Given the description of an element on the screen output the (x, y) to click on. 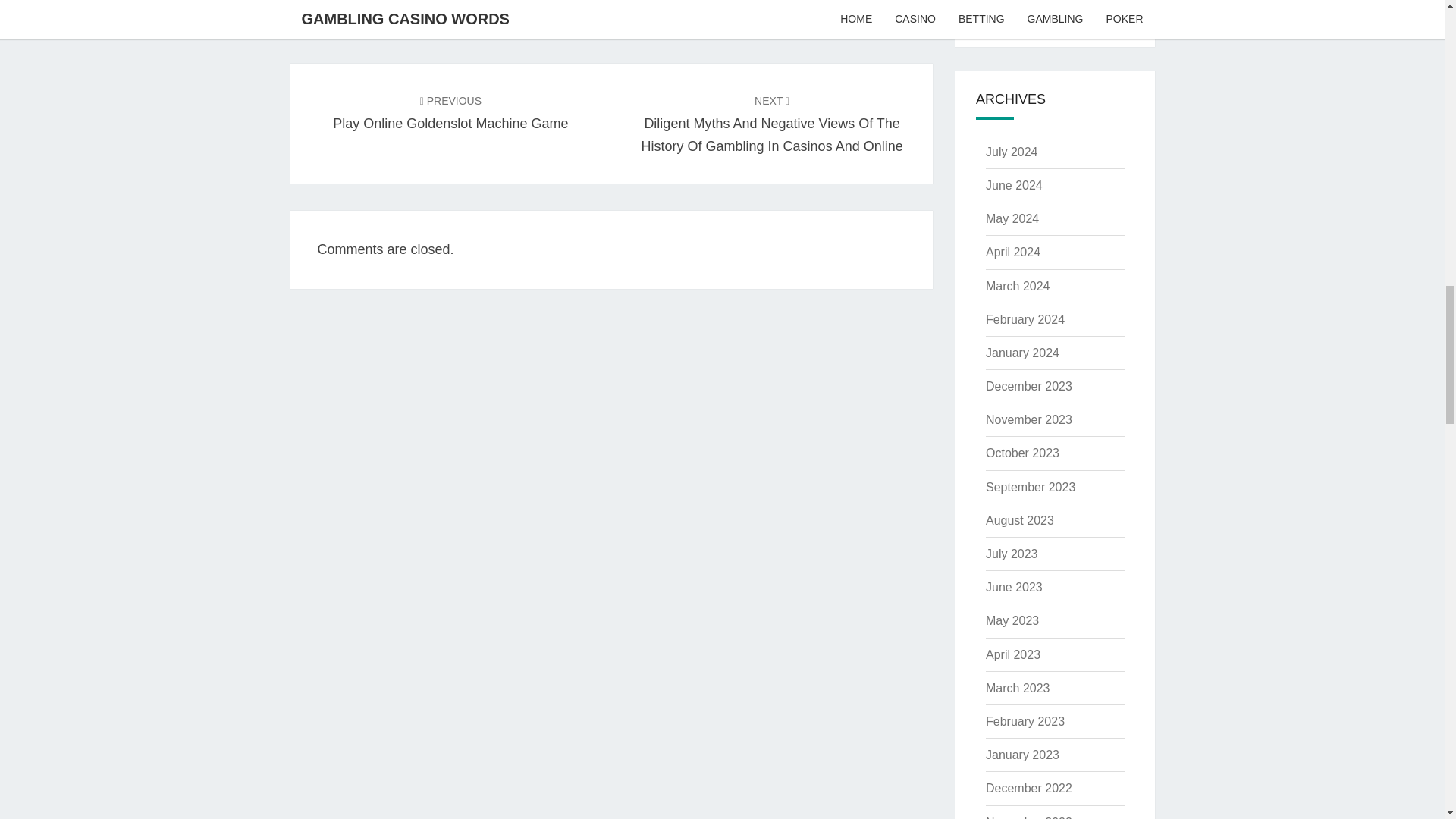
June 2024 (1013, 185)
February 2023 (1024, 721)
November 2023 (1028, 419)
April 2024 (1013, 251)
June 2023 (1013, 586)
March 2024 (1017, 286)
January 2023 (1022, 754)
May 2024 (450, 111)
October 2023 (1012, 218)
May 2023 (1022, 452)
January 2024 (1012, 620)
December 2023 (1022, 352)
July 2023 (1028, 386)
September 2023 (1011, 553)
